Given the description of an element on the screen output the (x, y) to click on. 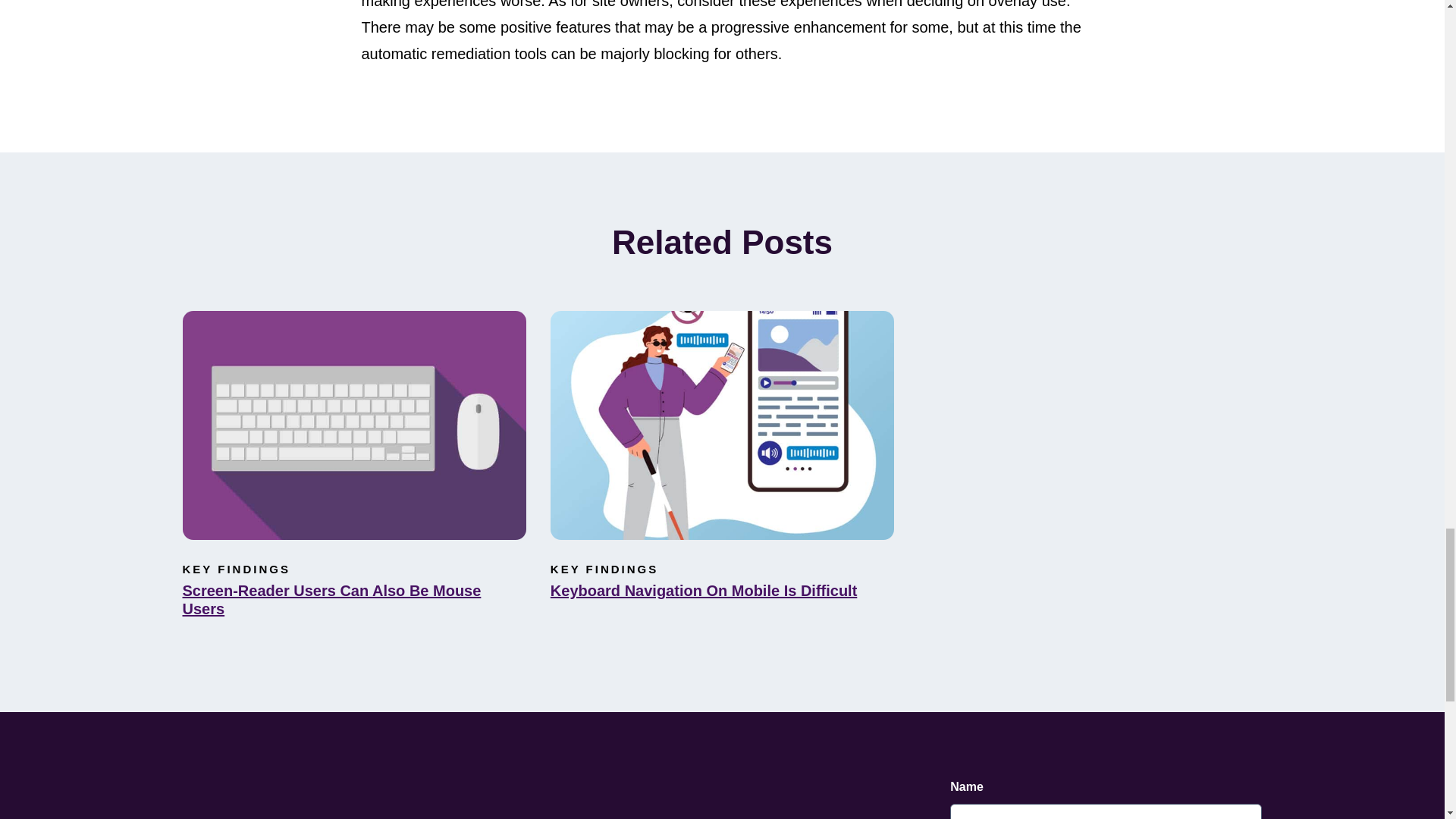
KEY FINDINGS (604, 568)
KEY FINDINGS (235, 568)
Screen-Reader Users Can Also Be Mouse Users (353, 599)
Keyboard Navigation On Mobile Is Difficult (721, 590)
